Given the description of an element on the screen output the (x, y) to click on. 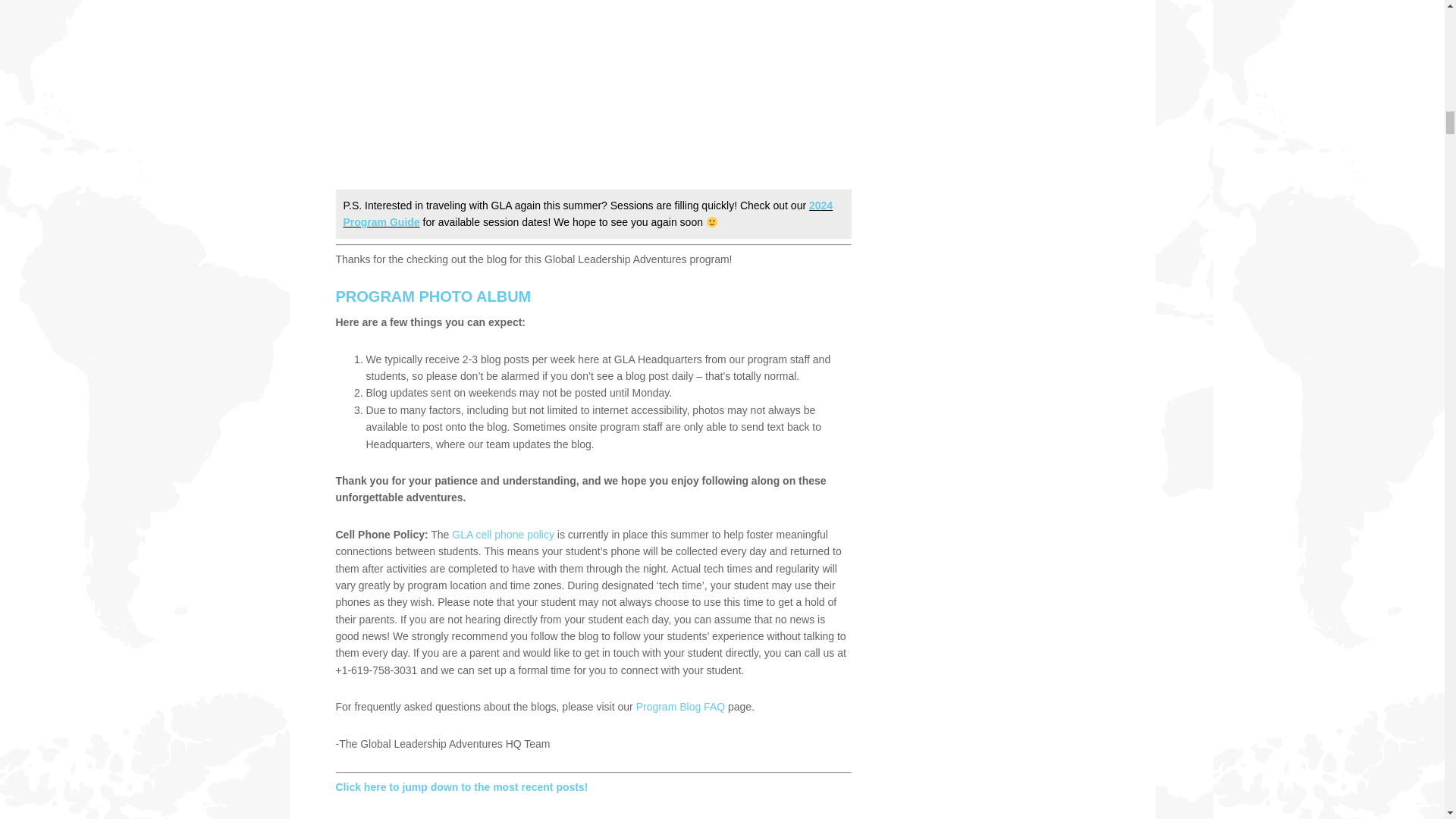
PROGRAM PHOTO ALBUM (432, 296)
2024 Program Guide (587, 213)
GLA cell phone policy (502, 534)
Click here to jump down to the most recent posts! (461, 787)
Program Blog FAQ (680, 706)
